Given the description of an element on the screen output the (x, y) to click on. 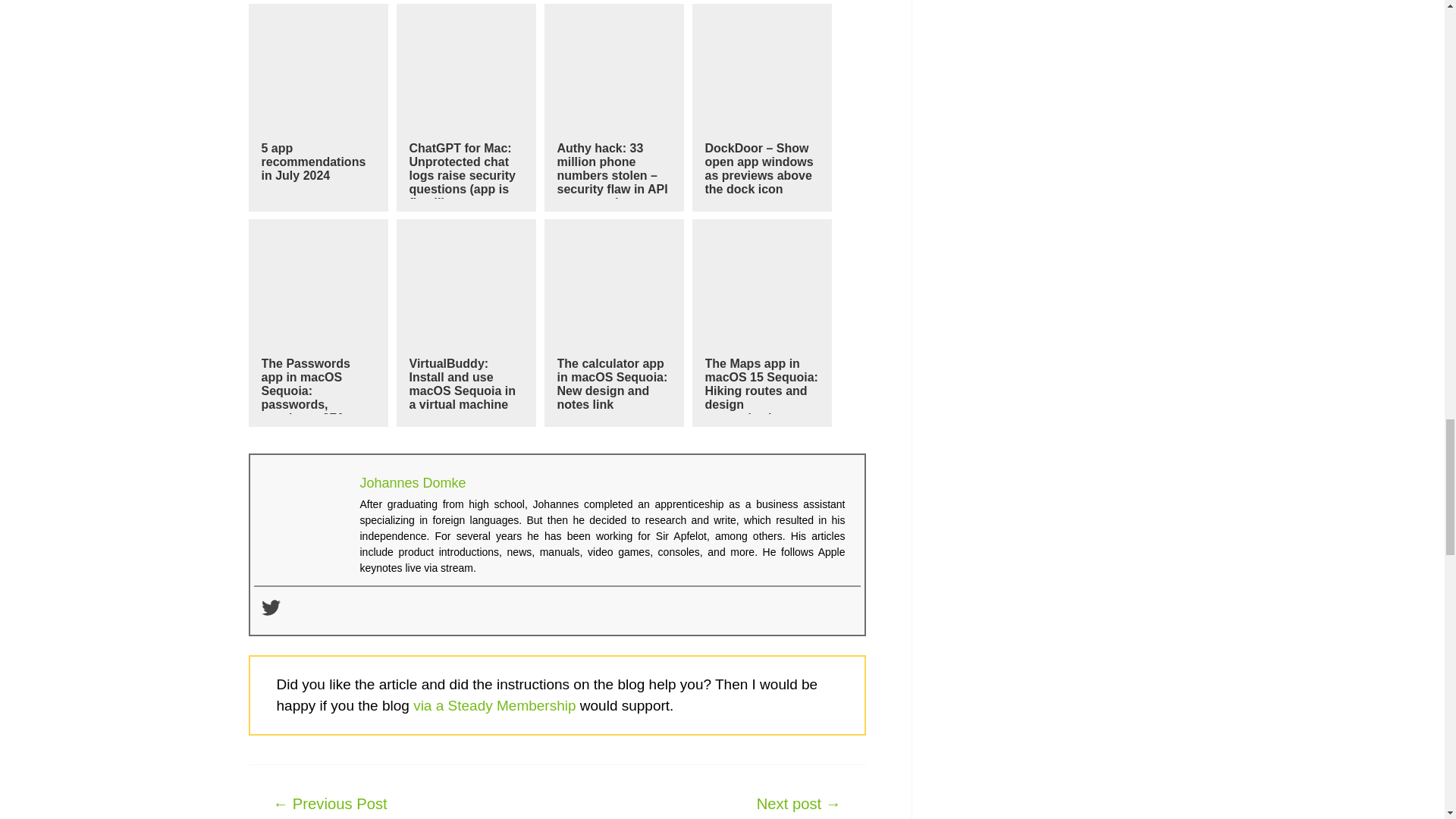
Pitaka Ecosystem Live Event: This was featured on the stream (330, 803)
